Given the description of an element on the screen output the (x, y) to click on. 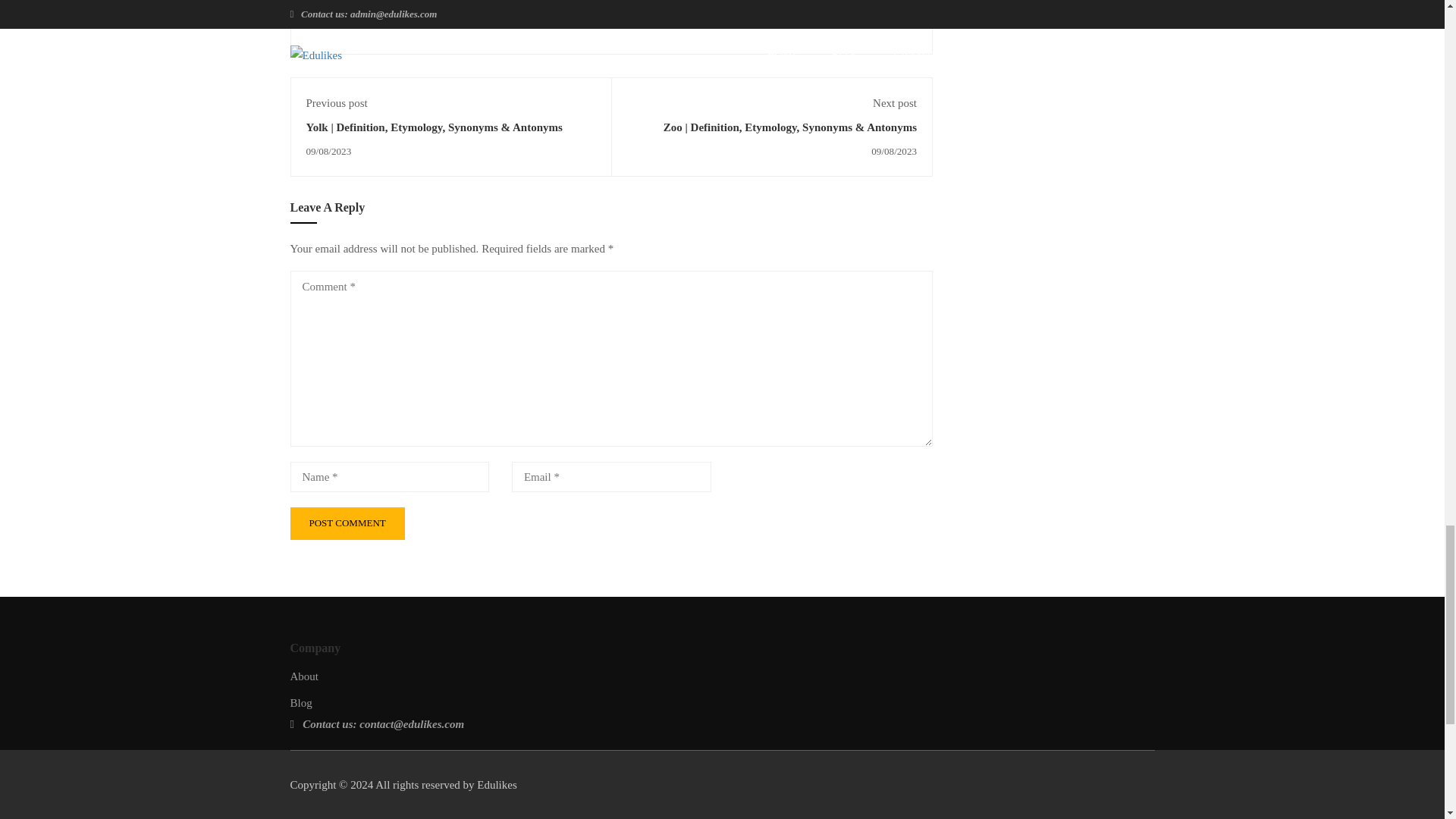
Post Comment (346, 522)
